Given the description of an element on the screen output the (x, y) to click on. 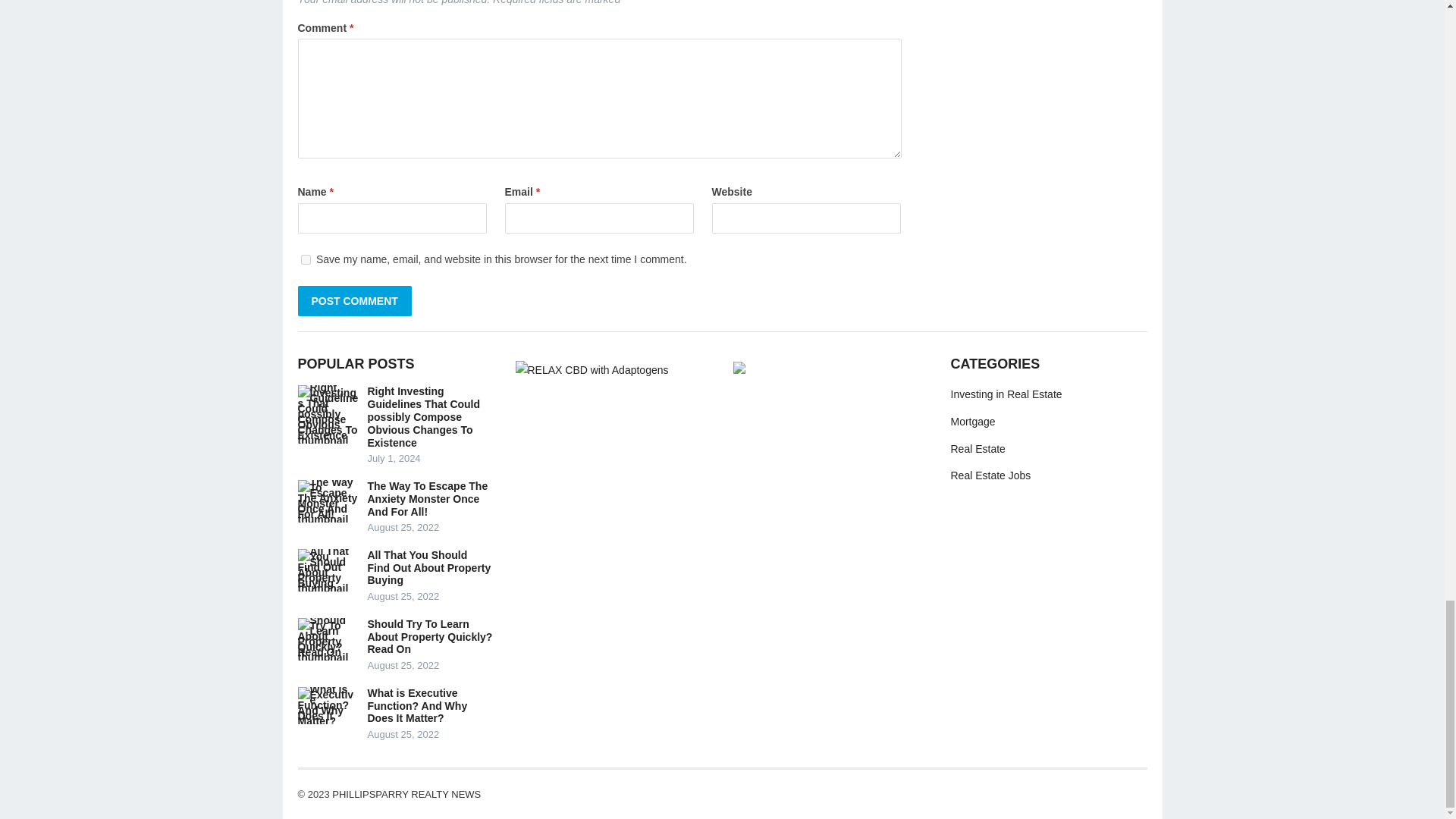
What is Executive Function? And Why Does It Matter? (327, 705)
yes (304, 259)
Post Comment (353, 300)
